Given the description of an element on the screen output the (x, y) to click on. 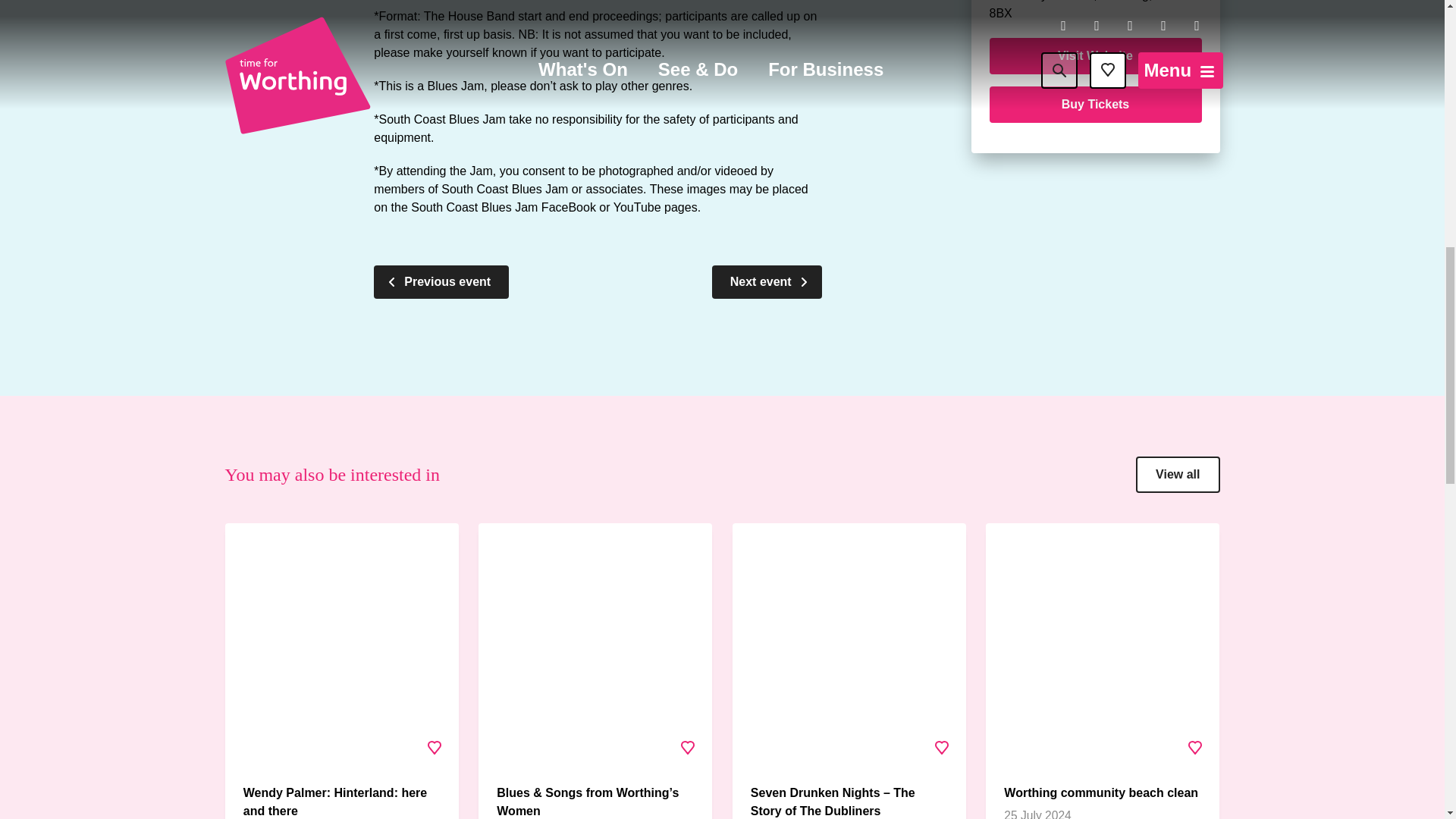
Add to favorites (1194, 747)
Add to favorites (434, 747)
Add to favorites (941, 747)
Add to favorites (687, 747)
